Given the description of an element on the screen output the (x, y) to click on. 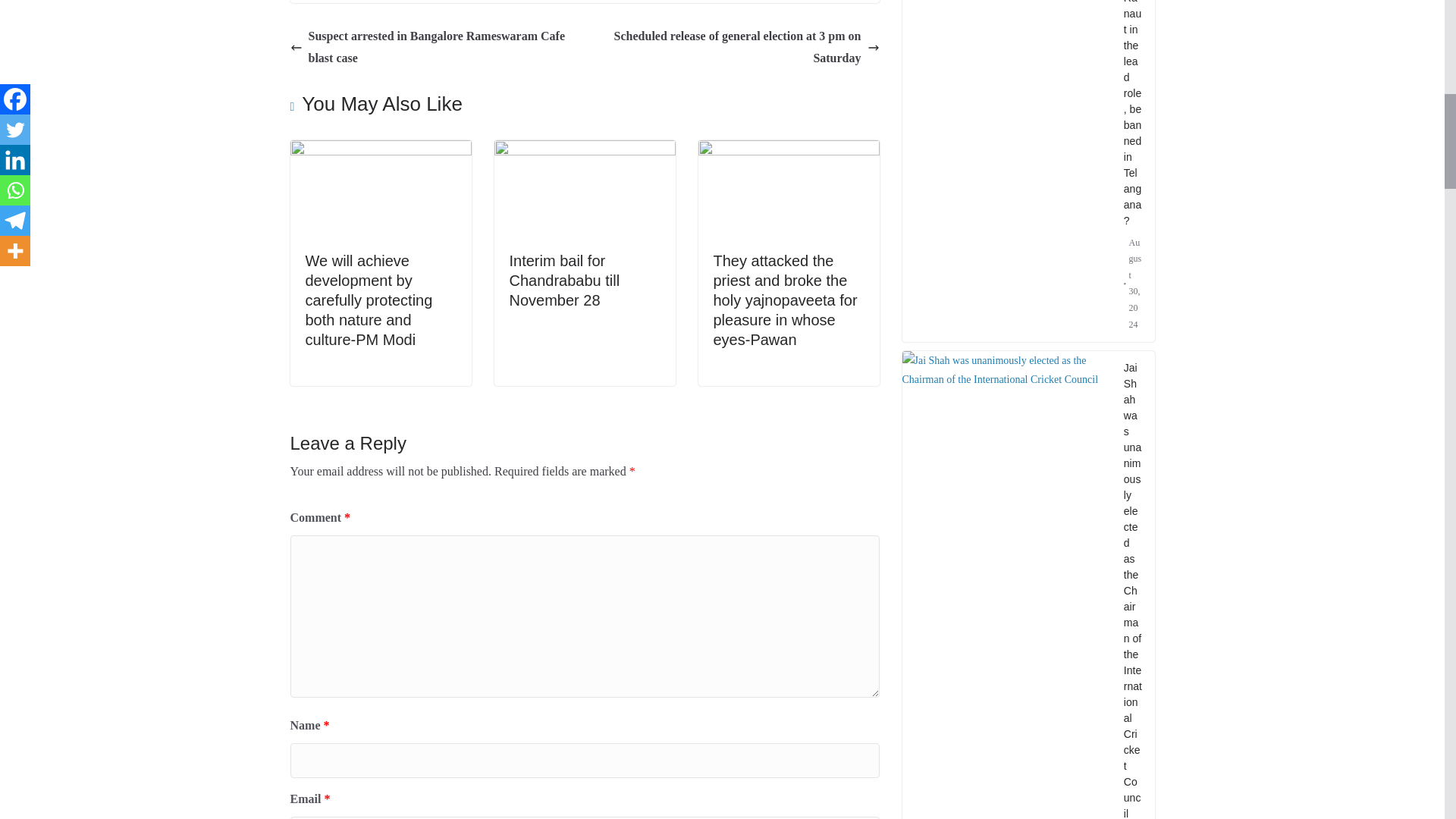
Scheduled release of general election at 3 pm on Saturday (735, 47)
Suspect arrested in Bangalore Rameswaram Cafe blast case (432, 47)
